Given the description of an element on the screen output the (x, y) to click on. 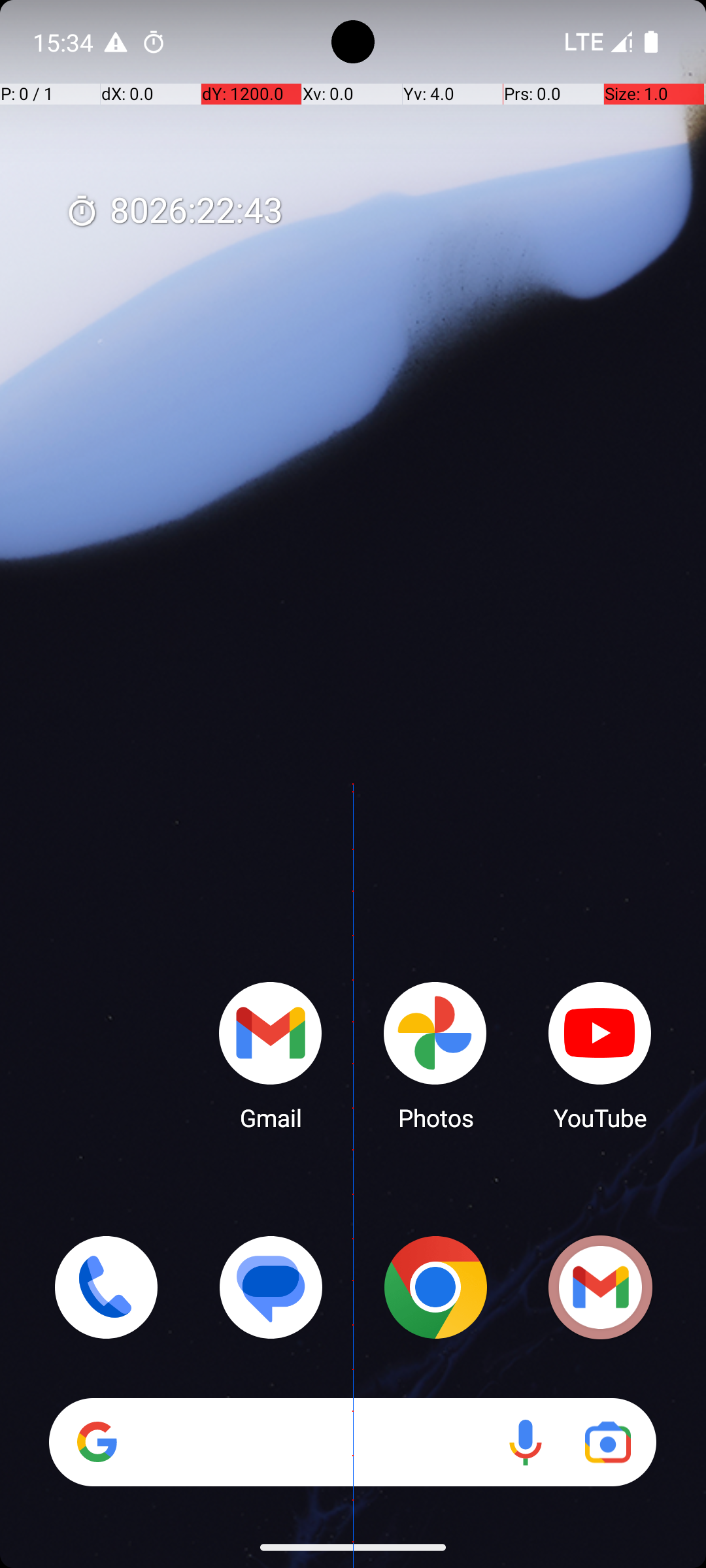
Home Element type: android.view.View (353, 804)
Phone Element type: android.widget.TextView (105, 1287)
Messages Element type: android.widget.TextView (270, 1287)
Chrome Element type: android.widget.TextView (435, 1287)
Gmail Element type: android.widget.TextView (599, 1287)
Search Element type: android.widget.FrameLayout (352, 1442)
8026:22:44 Element type: android.widget.TextView (173, 210)
Photos Element type: android.widget.TextView (435, 1054)
YouTube Element type: android.widget.TextView (599, 1054)
Google app Element type: android.widget.ImageView (97, 1441)
Voice search Element type: android.widget.ImageView (525, 1442)
Google Lens Element type: android.widget.ImageButton (607, 1442)
